Given the description of an element on the screen output the (x, y) to click on. 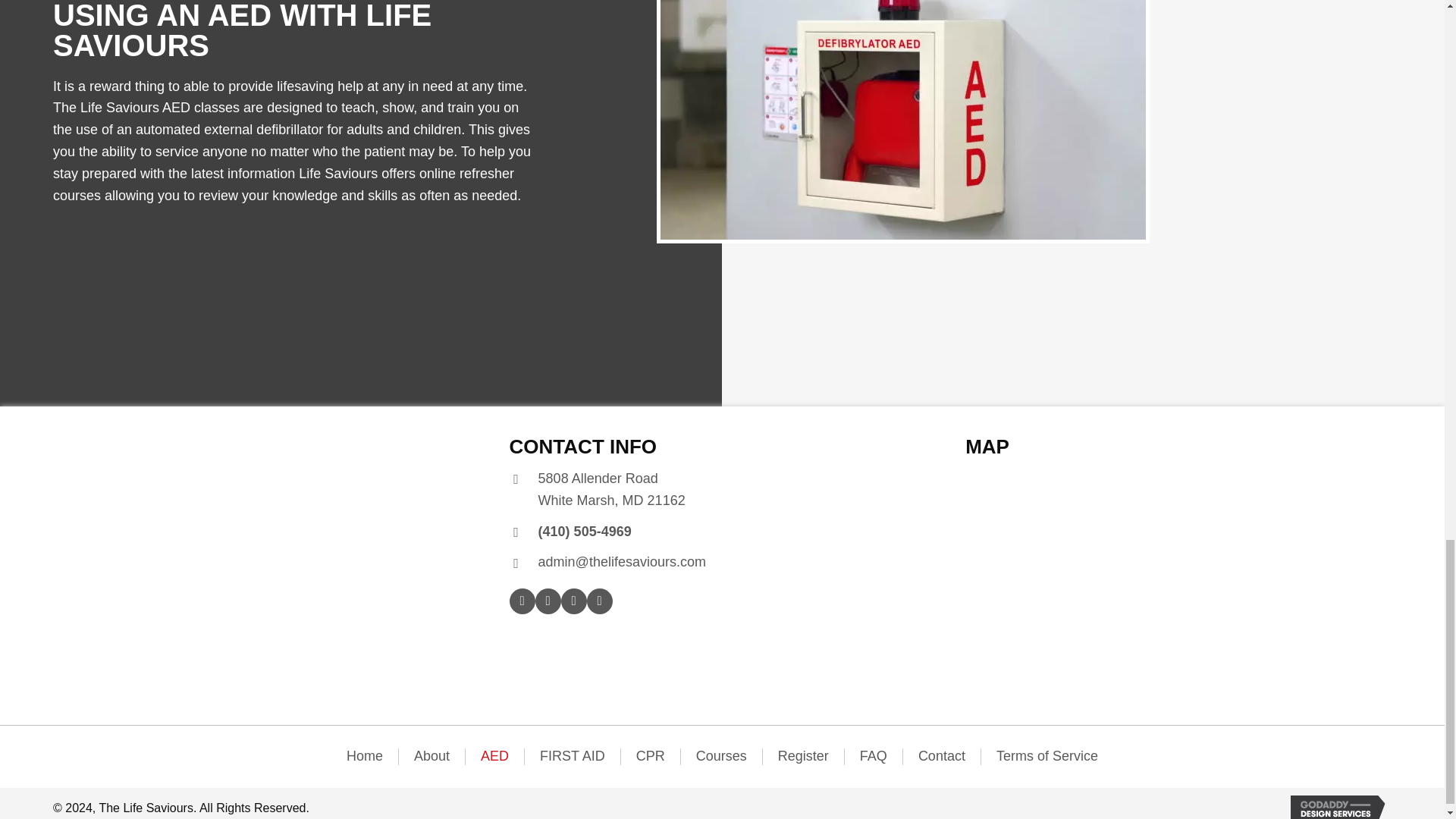
Twitter (547, 601)
CPR (650, 756)
AED (494, 756)
FAQ (873, 756)
logo1 (173, 573)
Youtube (599, 601)
Facebook (522, 601)
Register (611, 489)
Courses (803, 756)
